Given the description of an element on the screen output the (x, y) to click on. 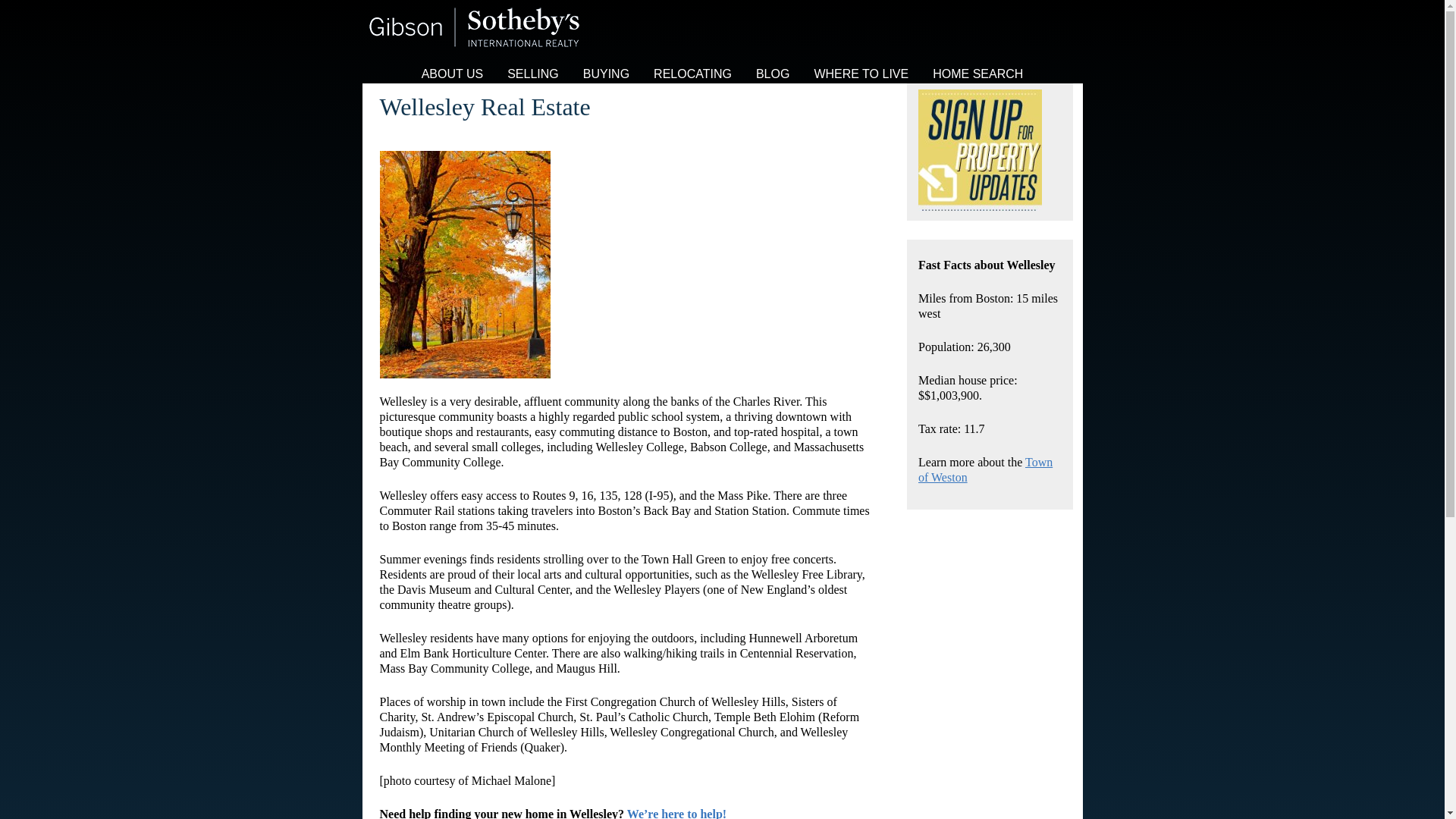
ABOUT US (452, 73)
WHERE TO LIVE (861, 73)
BLOG (773, 73)
BUYING (606, 73)
RELOCATING (693, 73)
SELLING (532, 73)
